Given the description of an element on the screen output the (x, y) to click on. 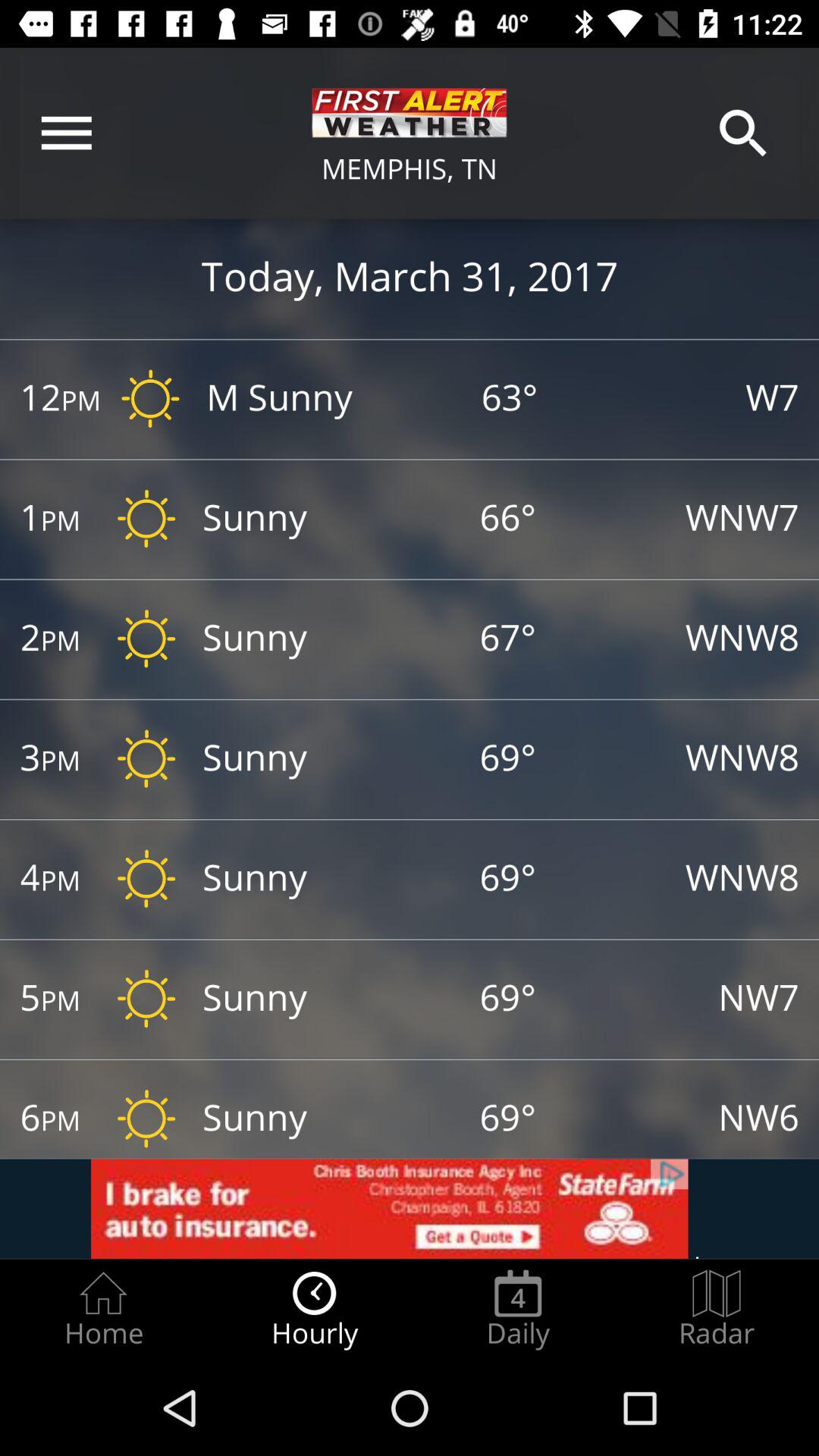
statefarm icon (409, 1208)
